Given the description of an element on the screen output the (x, y) to click on. 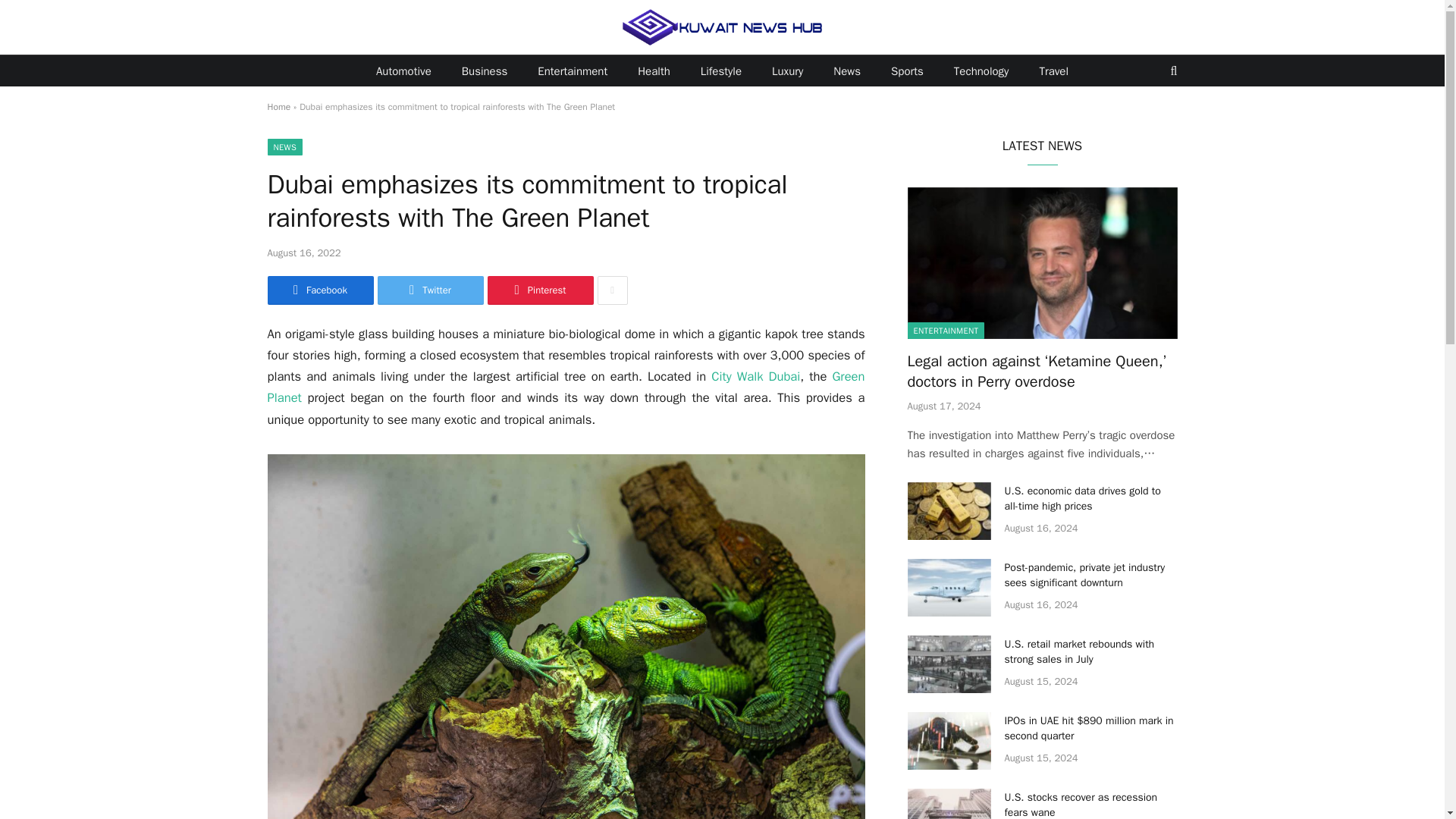
Green Planet (565, 386)
Sports (907, 70)
City Walk Dubai (755, 376)
Share on Pinterest (539, 290)
Automotive (403, 70)
Show More Social Sharing (611, 290)
Entertainment (572, 70)
Travel (1053, 70)
Luxury (787, 70)
Health (654, 70)
